Given the description of an element on the screen output the (x, y) to click on. 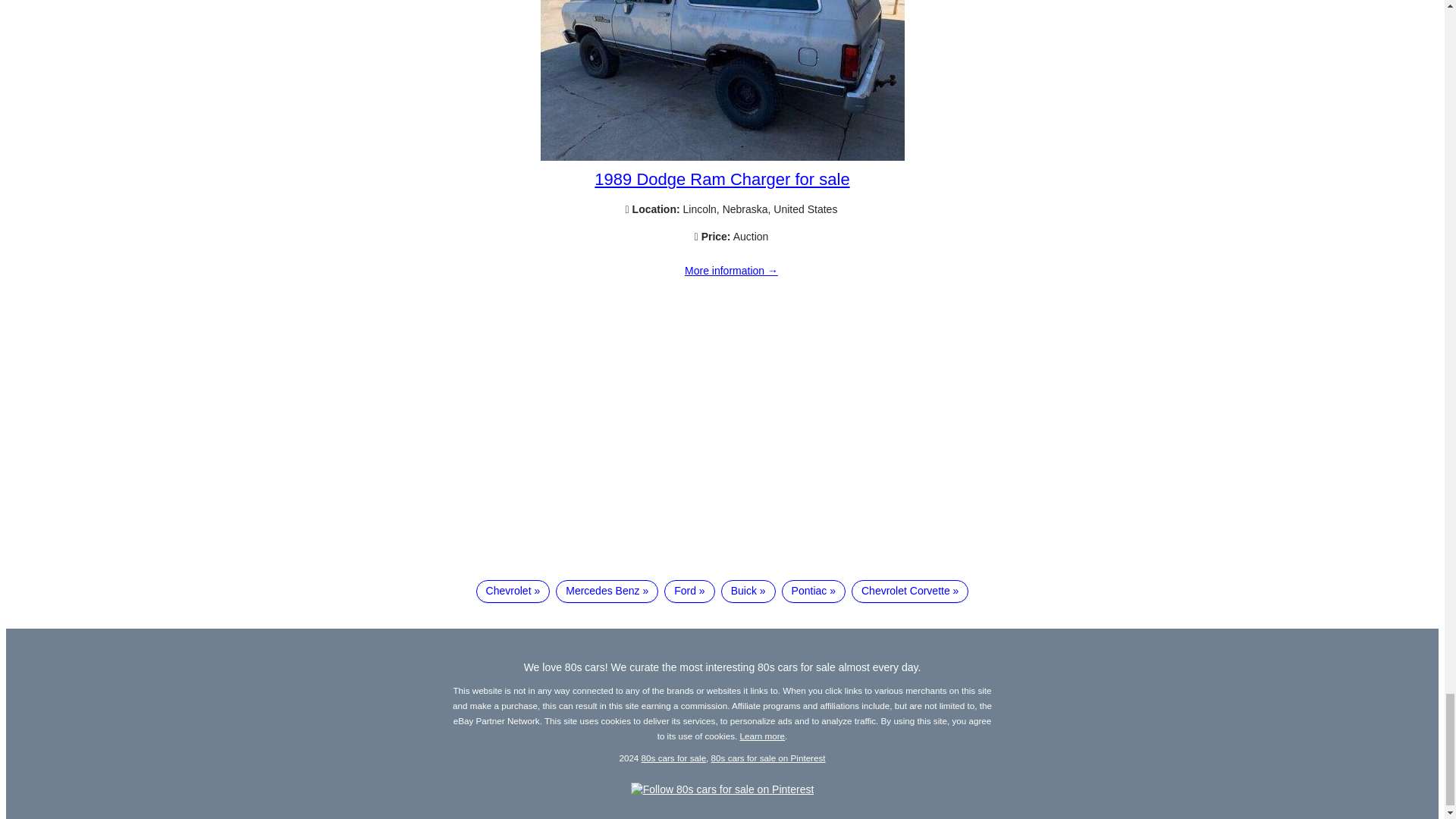
Buick (748, 590)
Learn more (762, 736)
Ford (688, 590)
Chevrolet Corvette (909, 590)
Mercedes Benz (607, 590)
80s cars for sale on Pinterest (768, 757)
1989 Dodge Ram Charger for sale (722, 156)
1989 Dodge Ram Charger for sale (721, 179)
1989 Dodge Ram Charger for sale (731, 271)
Pontiac (813, 590)
Chevrolet (513, 590)
Follow 80s cars for sale on Pinterest (721, 788)
80s cars for sale (674, 757)
